Given the description of an element on the screen output the (x, y) to click on. 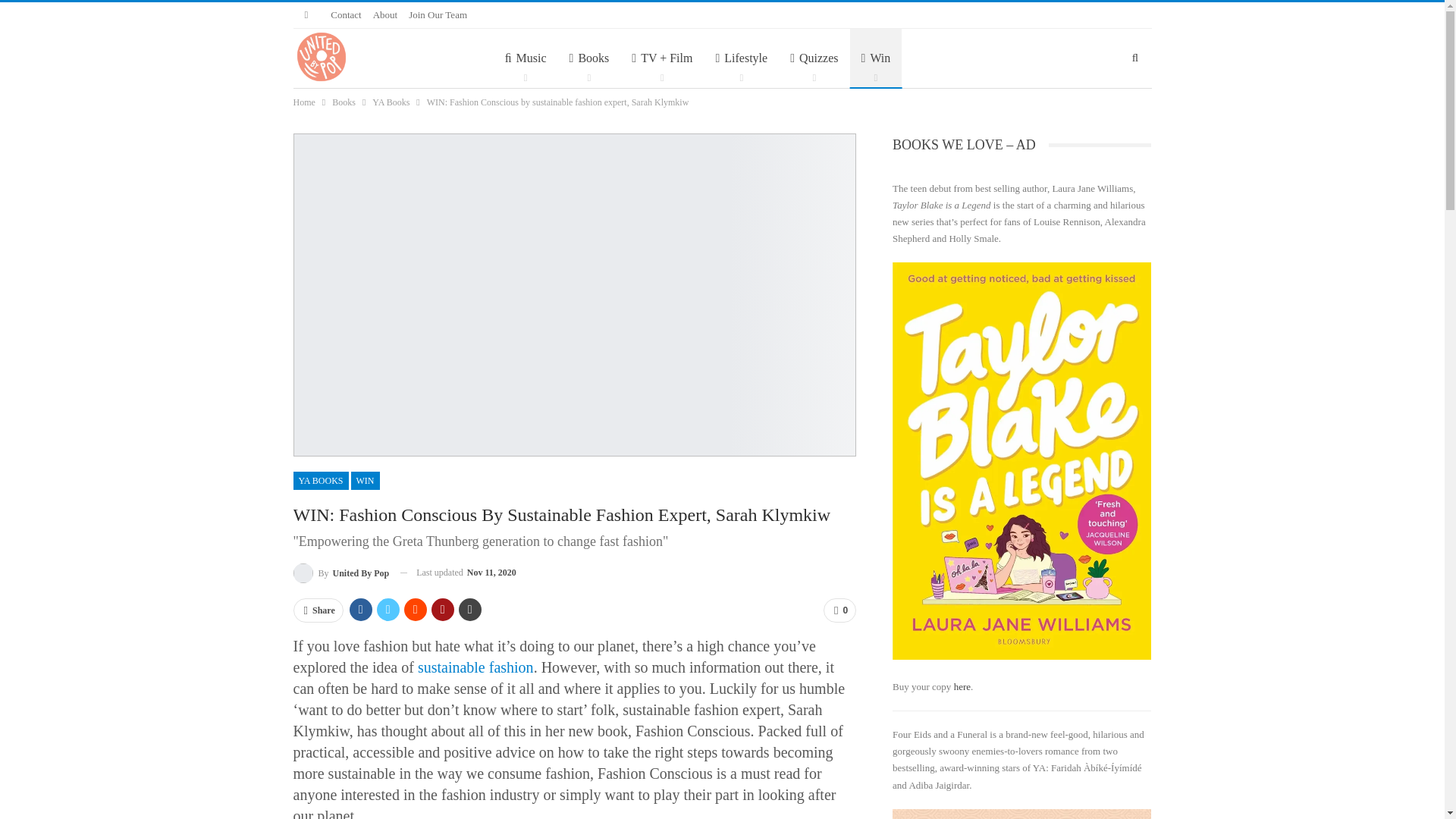
About (384, 14)
Books (589, 57)
Music (525, 57)
Join Our Team (438, 14)
Contact (345, 14)
Music (525, 57)
